Given the description of an element on the screen output the (x, y) to click on. 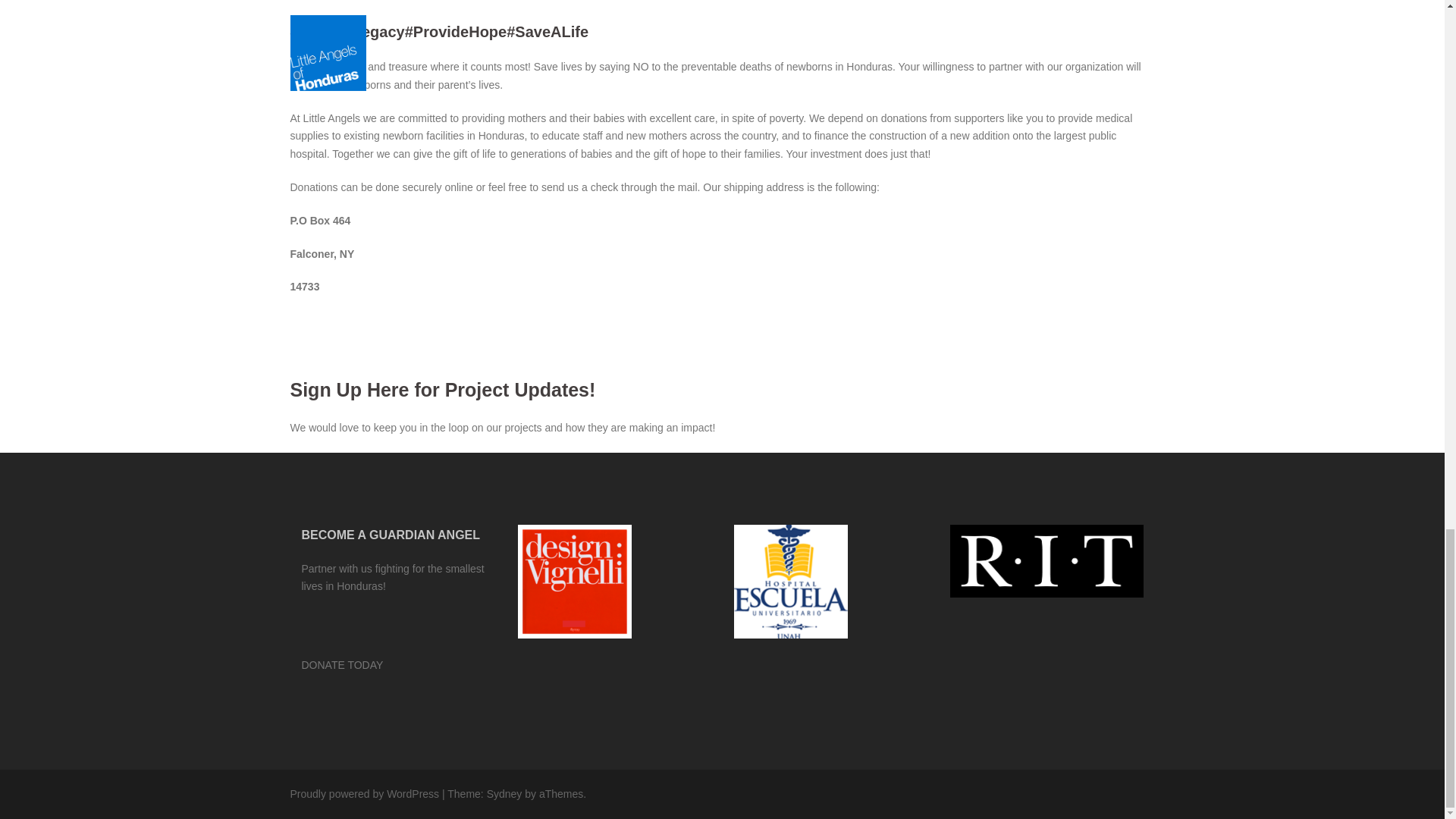
Sydney (504, 793)
DONATE TODAY (342, 665)
Proudly powered by WordPress (364, 793)
